Given the description of an element on the screen output the (x, y) to click on. 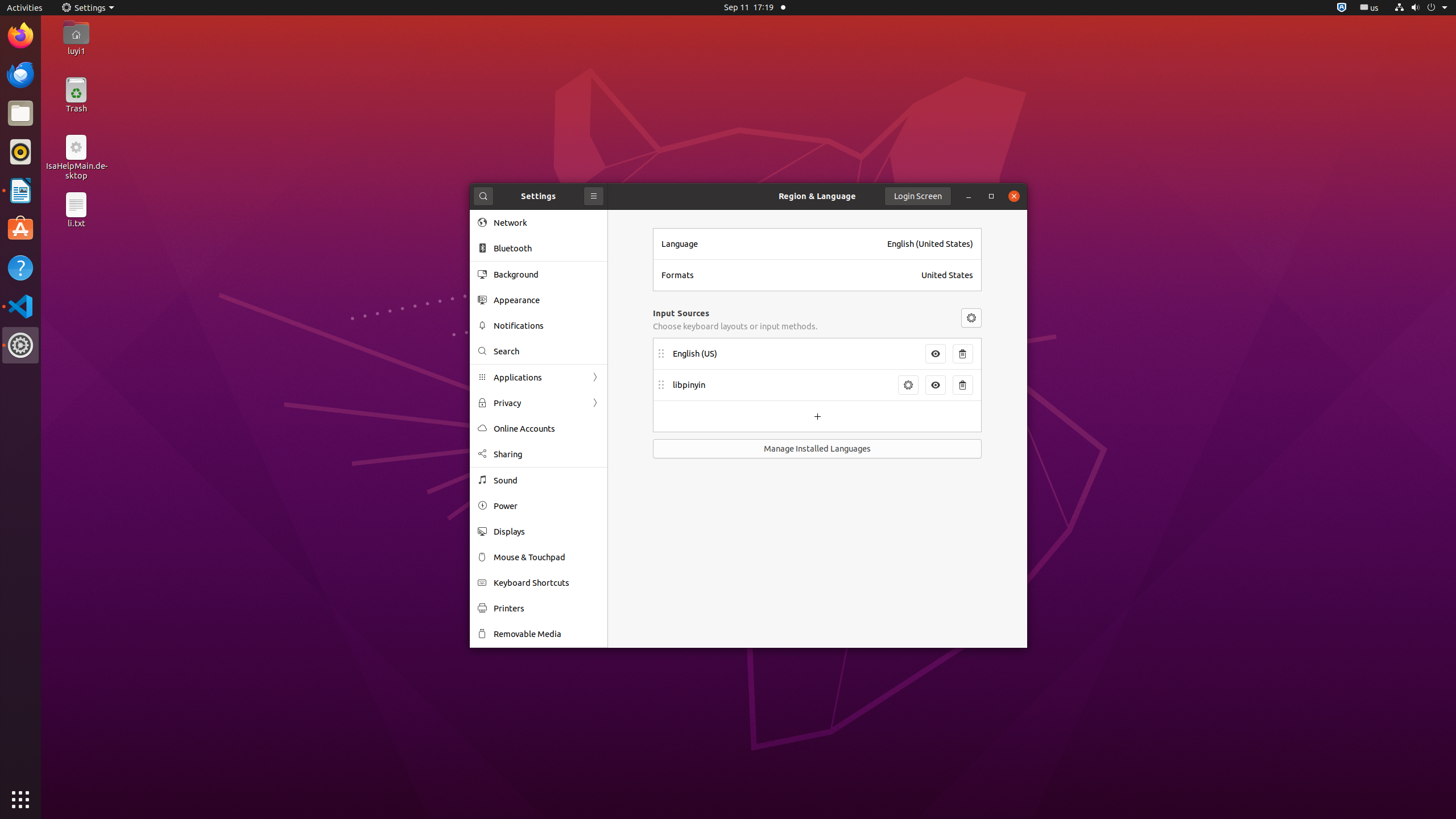
Privacy Element type: label (538, 402)
Removable Media Element type: label (546, 633)
